Given the description of an element on the screen output the (x, y) to click on. 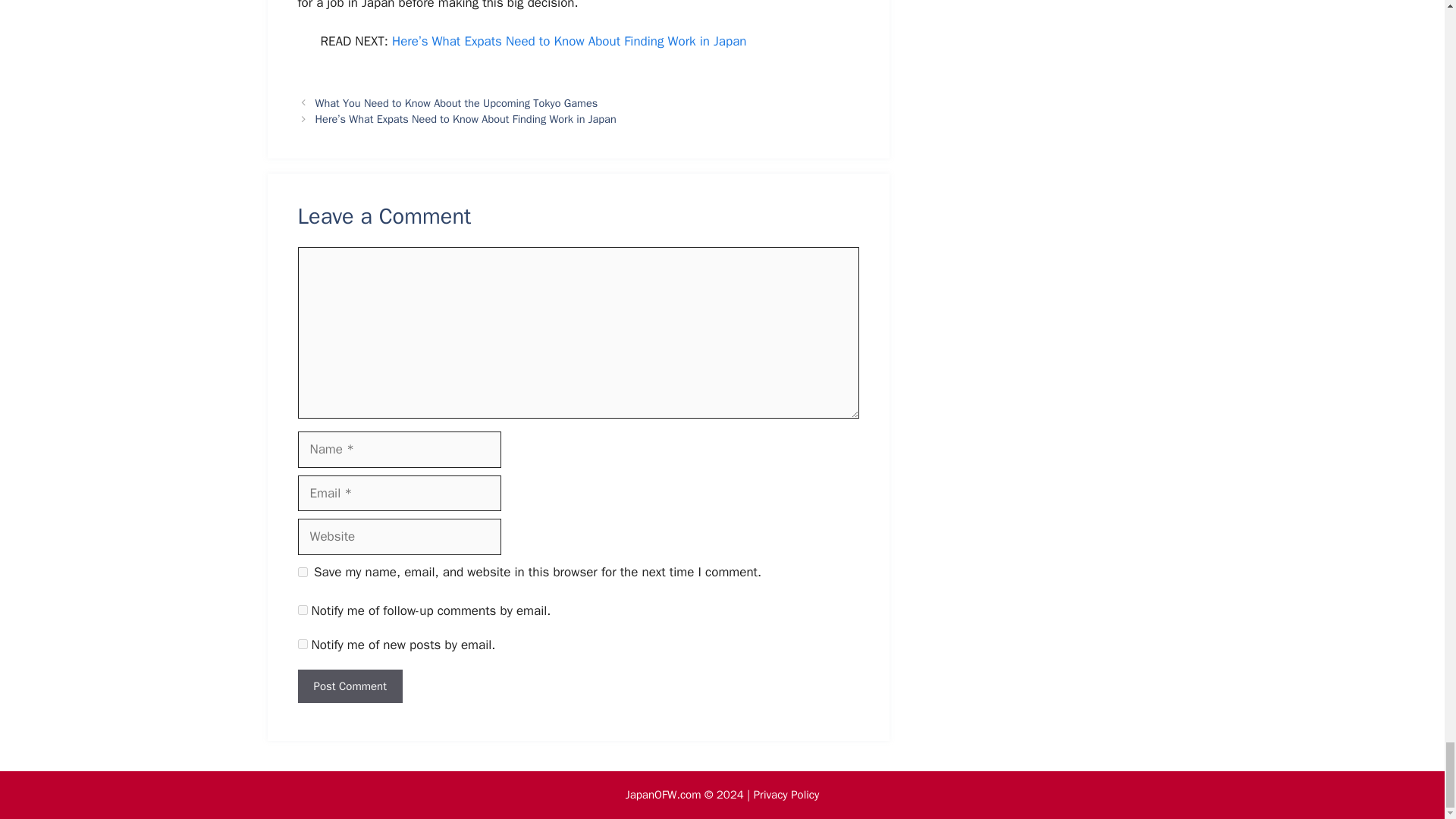
subscribe (302, 644)
yes (302, 572)
Post Comment (349, 686)
Post Comment (349, 686)
What You Need to Know About the Upcoming Tokyo Games (456, 102)
subscribe (302, 610)
